Given the description of an element on the screen output the (x, y) to click on. 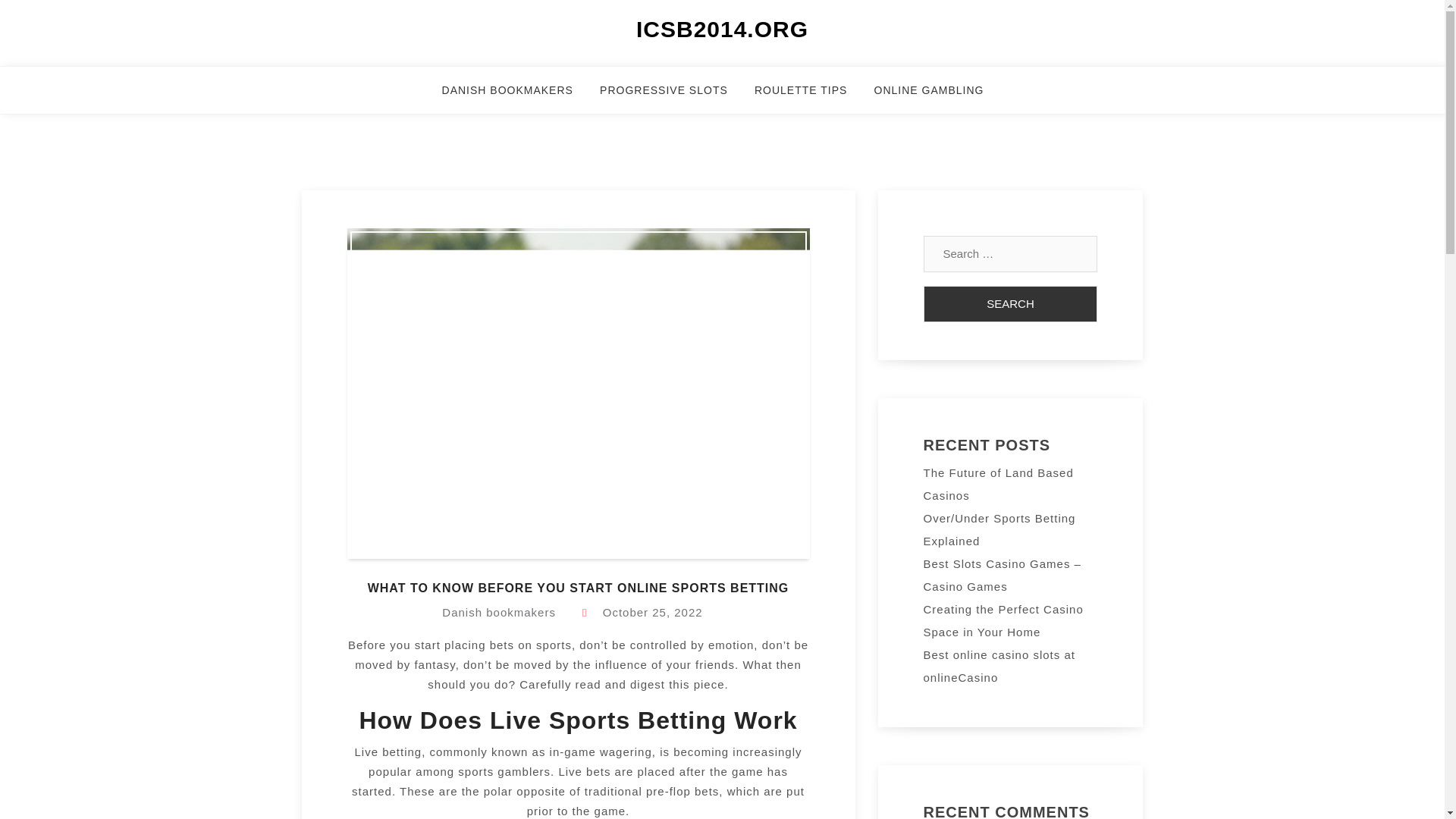
ROULETTE TIPS (810, 96)
Search (1010, 303)
DANISH BOOKMAKERS (517, 96)
The Future of Land Based Casinos (998, 484)
ICSB2014.ORG (722, 28)
Danish bookmakers (499, 612)
PROGRESSIVE SLOTS (672, 96)
Creating the Perfect Casino Space in Your Home (1003, 620)
Search (1010, 303)
ONLINE GAMBLING (939, 96)
